Given the description of an element on the screen output the (x, y) to click on. 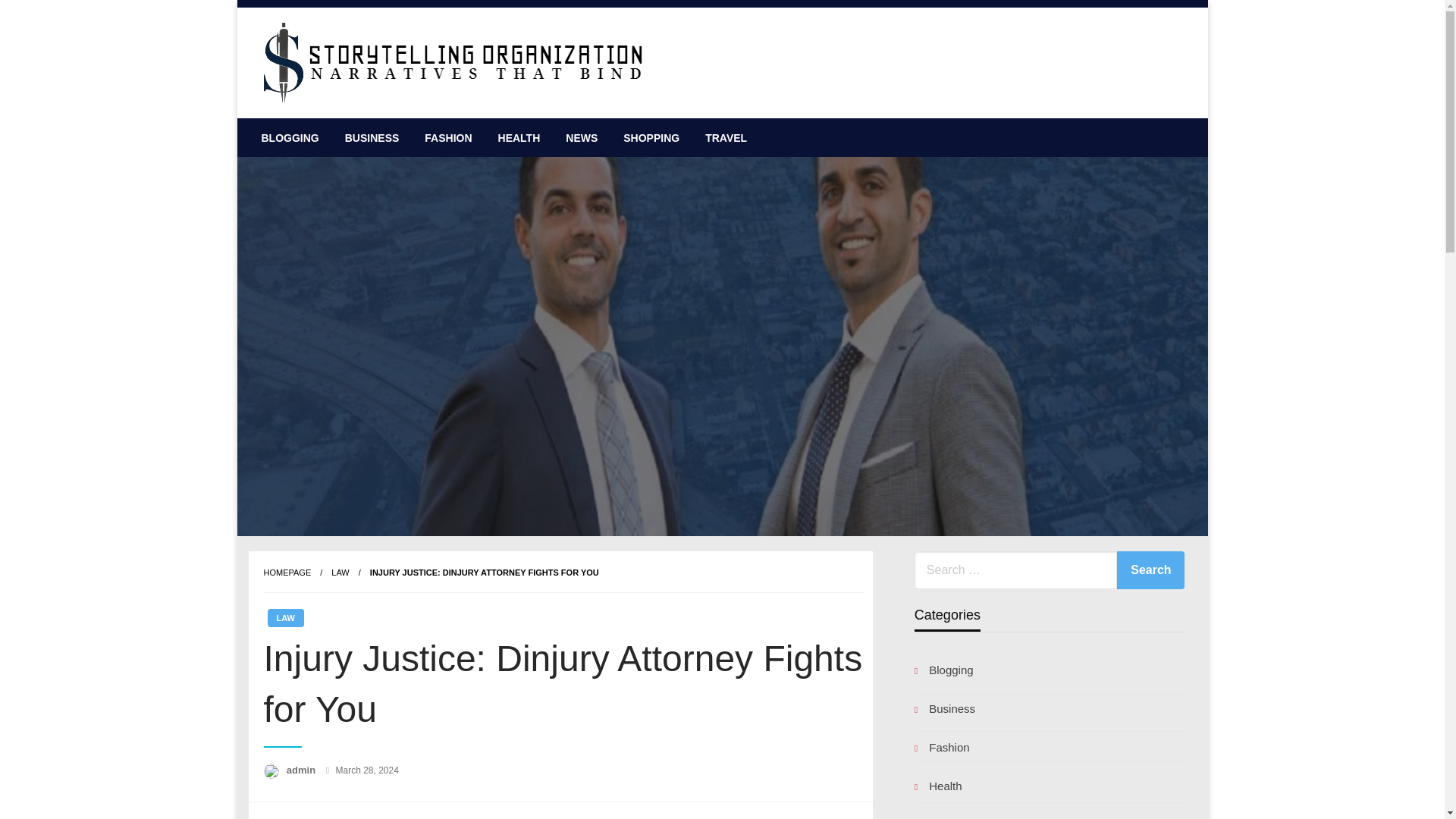
Homepage (287, 572)
LAW (340, 572)
News (1049, 816)
Blogging (1049, 670)
Search (1150, 569)
NEWS (581, 137)
LAW (284, 618)
TRAVEL (726, 137)
HEALTH (518, 137)
March 28, 2024 (365, 769)
FASHION (448, 137)
Law (340, 572)
admin (302, 769)
admin (302, 769)
HOMEPAGE (287, 572)
